Given the description of an element on the screen output the (x, y) to click on. 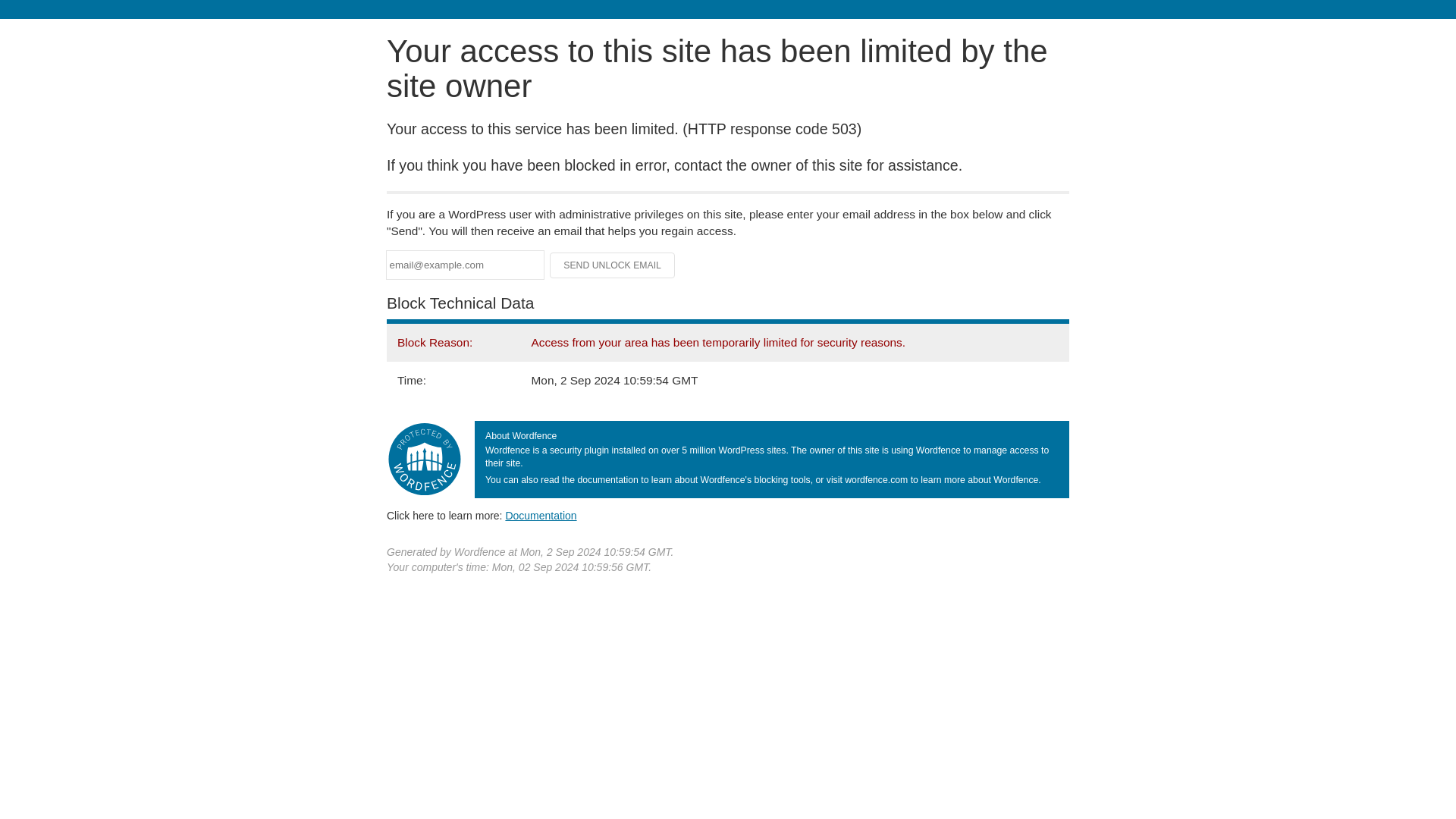
Send Unlock Email (612, 265)
Documentation (540, 515)
Send Unlock Email (612, 265)
